Given the description of an element on the screen output the (x, y) to click on. 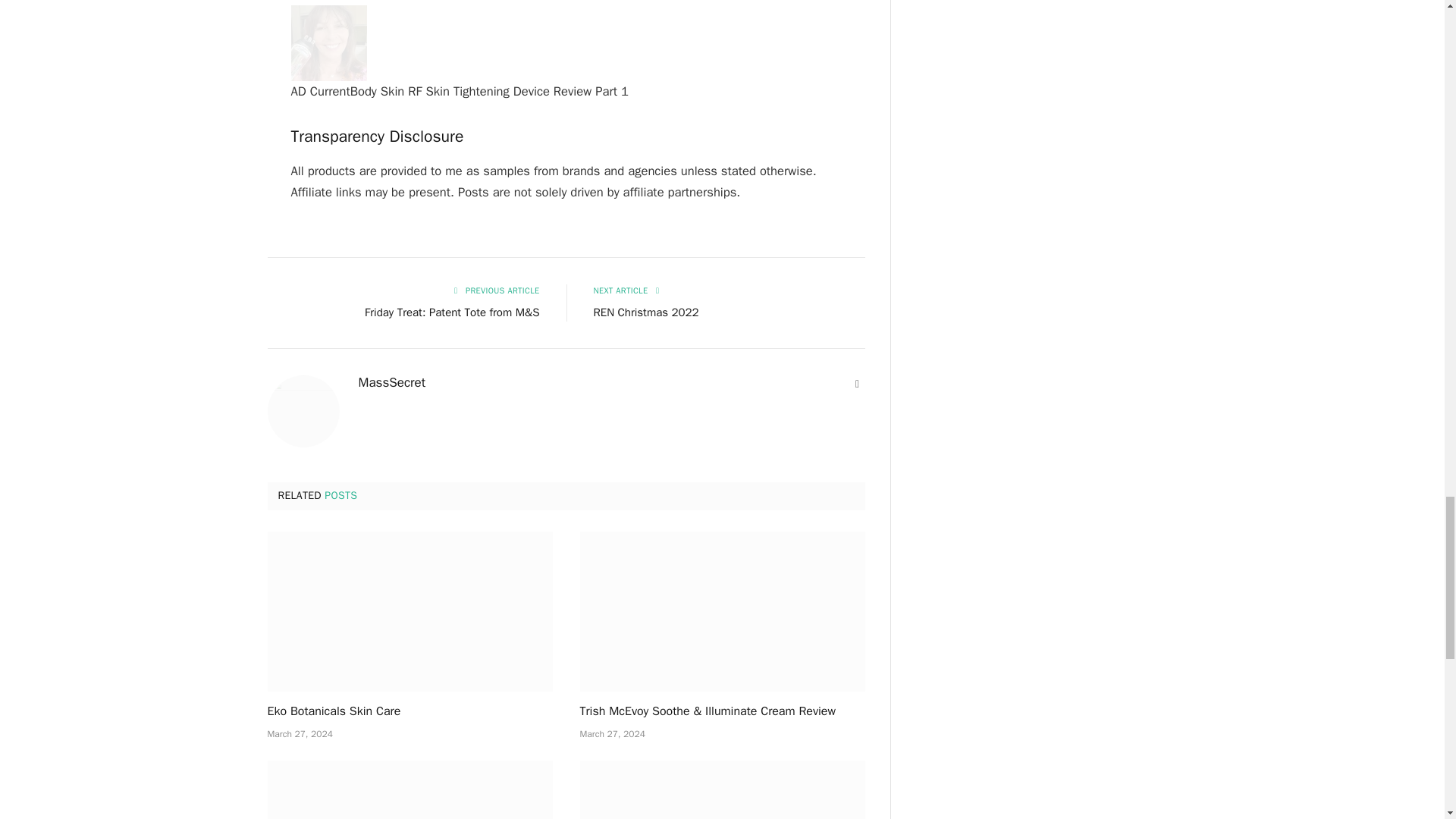
Posts by MassSecret (391, 382)
AD CurrentBody Skin RF Skin Tightening Device Review Part 1 (328, 42)
REN Christmas 2022 (645, 312)
MassSecret (391, 382)
